Given the description of an element on the screen output the (x, y) to click on. 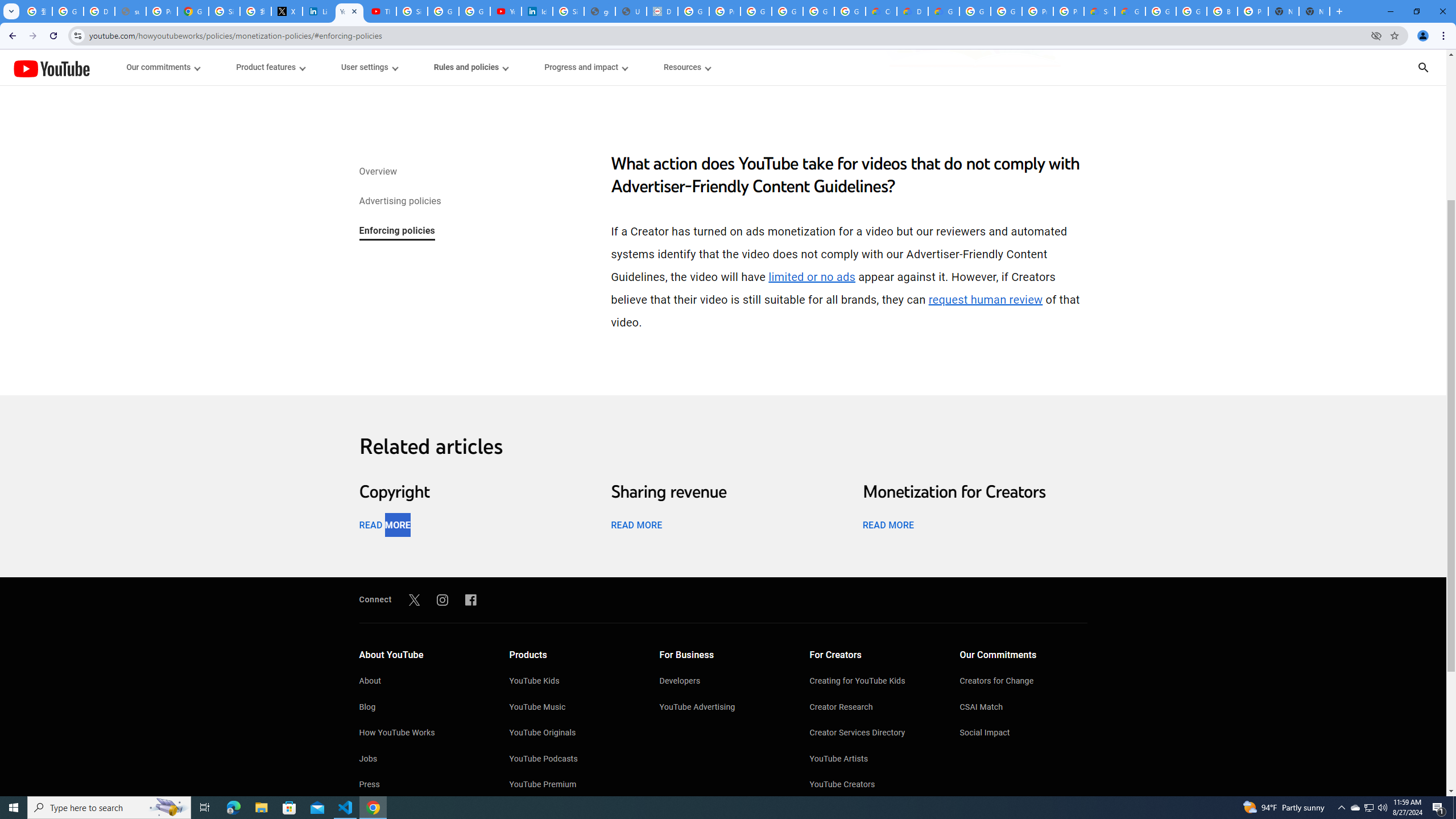
CSAI Match (1023, 708)
Press (422, 785)
YouTube Creators (873, 785)
JUMP TO CONTENT (118, 67)
Resources menupopup (686, 67)
Creators for Change (1023, 682)
Privacy Help Center - Policies Help (161, 11)
New Tab (1314, 11)
Customer Care | Google Cloud (881, 11)
